Given the description of an element on the screen output the (x, y) to click on. 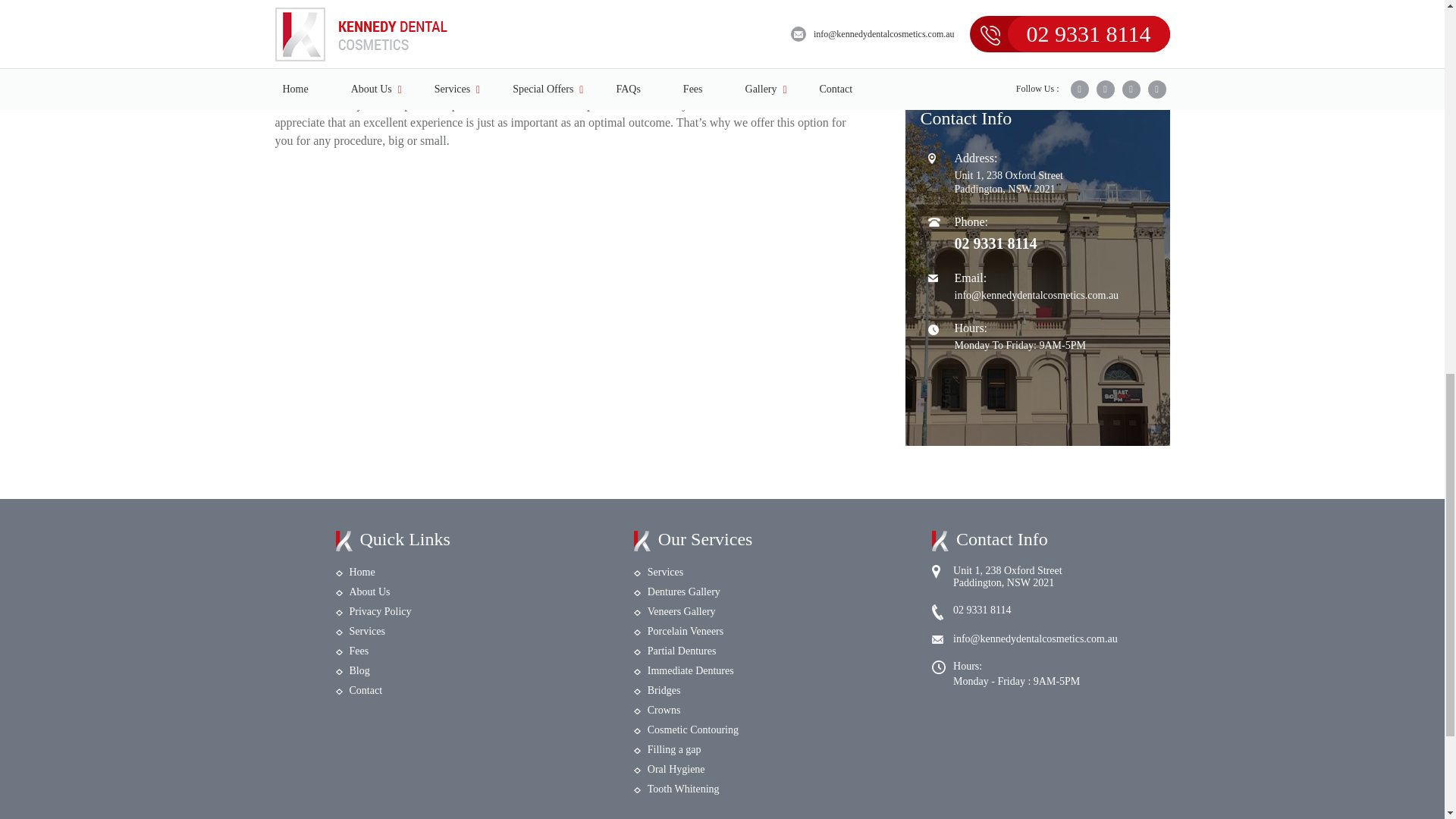
02 9331 8114 (994, 241)
About Us (369, 591)
Home (361, 572)
Services (366, 631)
Blog (359, 670)
Book an Appointment (1037, 12)
Privacy Policy (379, 611)
Fees (358, 650)
Contact (365, 690)
